Given the description of an element on the screen output the (x, y) to click on. 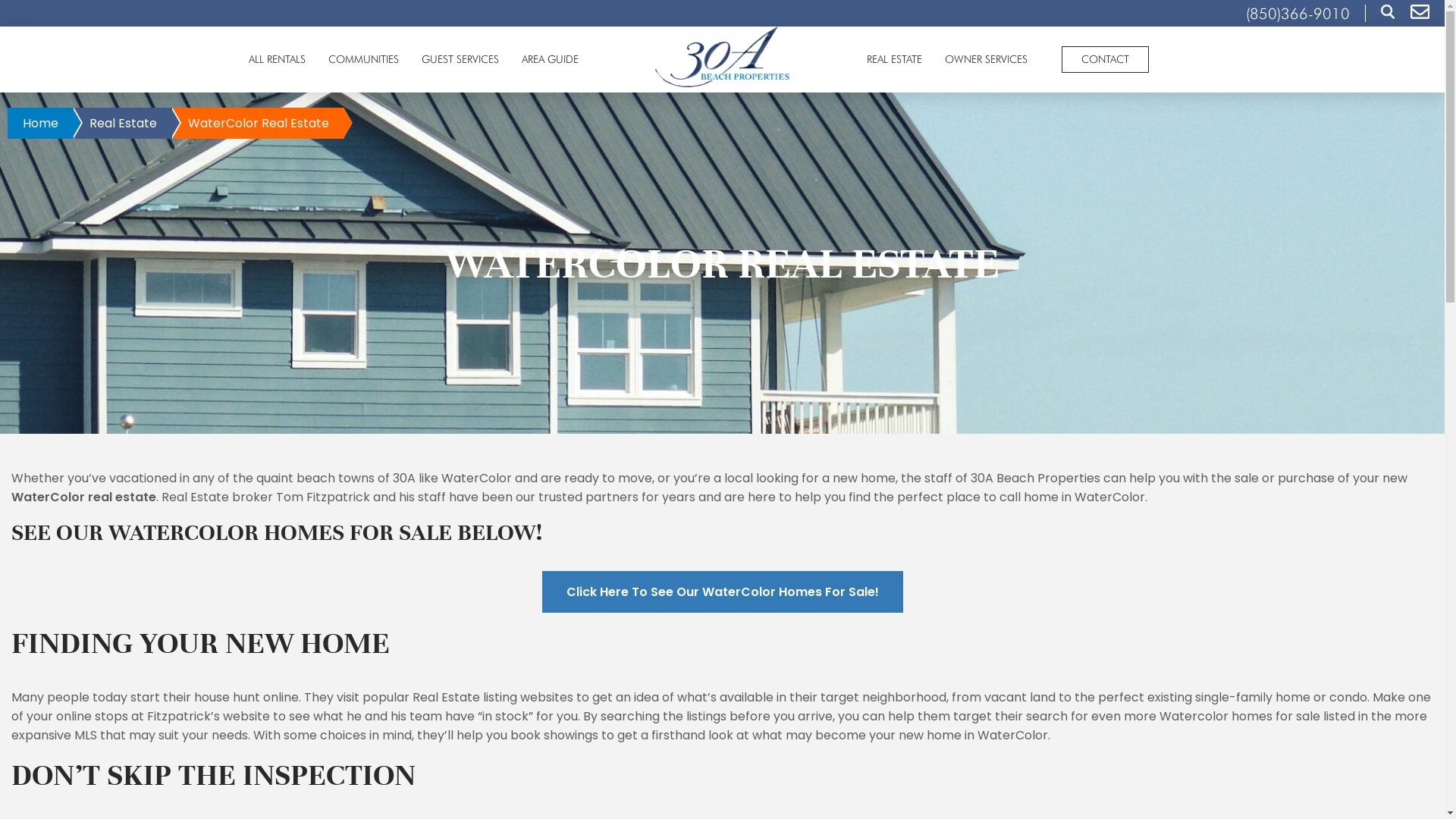
OWNER SERVICES Element type: text (985, 59)
GUEST SERVICES Element type: text (459, 59)
REAL ESTATE Element type: text (894, 59)
Click Here To See Our WaterColor Homes For Sale! Element type: text (721, 591)
30A Beach Properties Logo Element type: hover (722, 56)
Home Element type: text (40, 122)
Real Estate Element type: text (123, 122)
ALL RENTALS Element type: text (276, 59)
COMMUNITIES Element type: text (363, 59)
(850)366-9010 Element type: text (1297, 13)
AREA GUIDE Element type: text (549, 59)
CONTACT Element type: text (1104, 59)
